Given the description of an element on the screen output the (x, y) to click on. 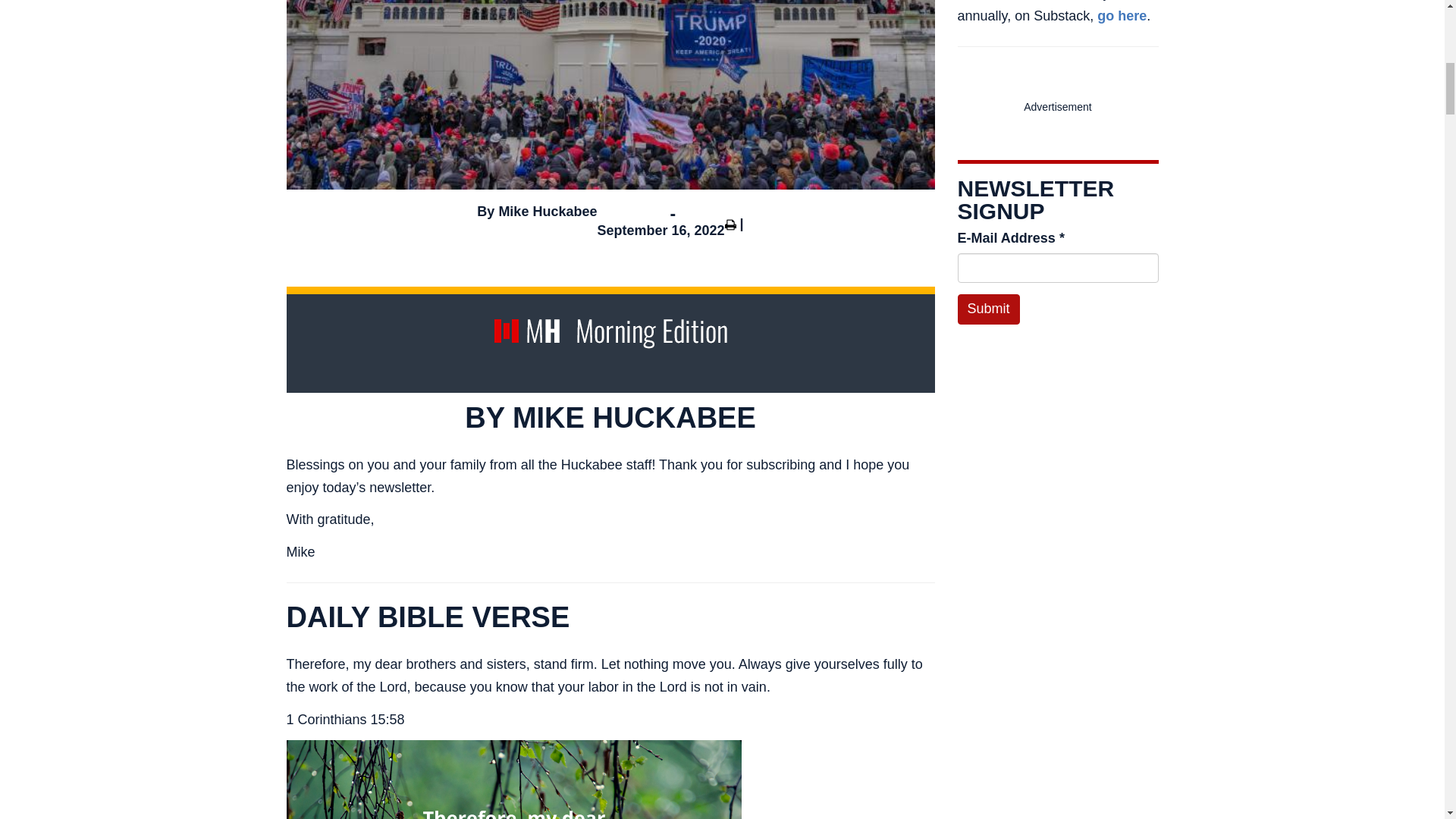
Submit (987, 309)
